Given the description of an element on the screen output the (x, y) to click on. 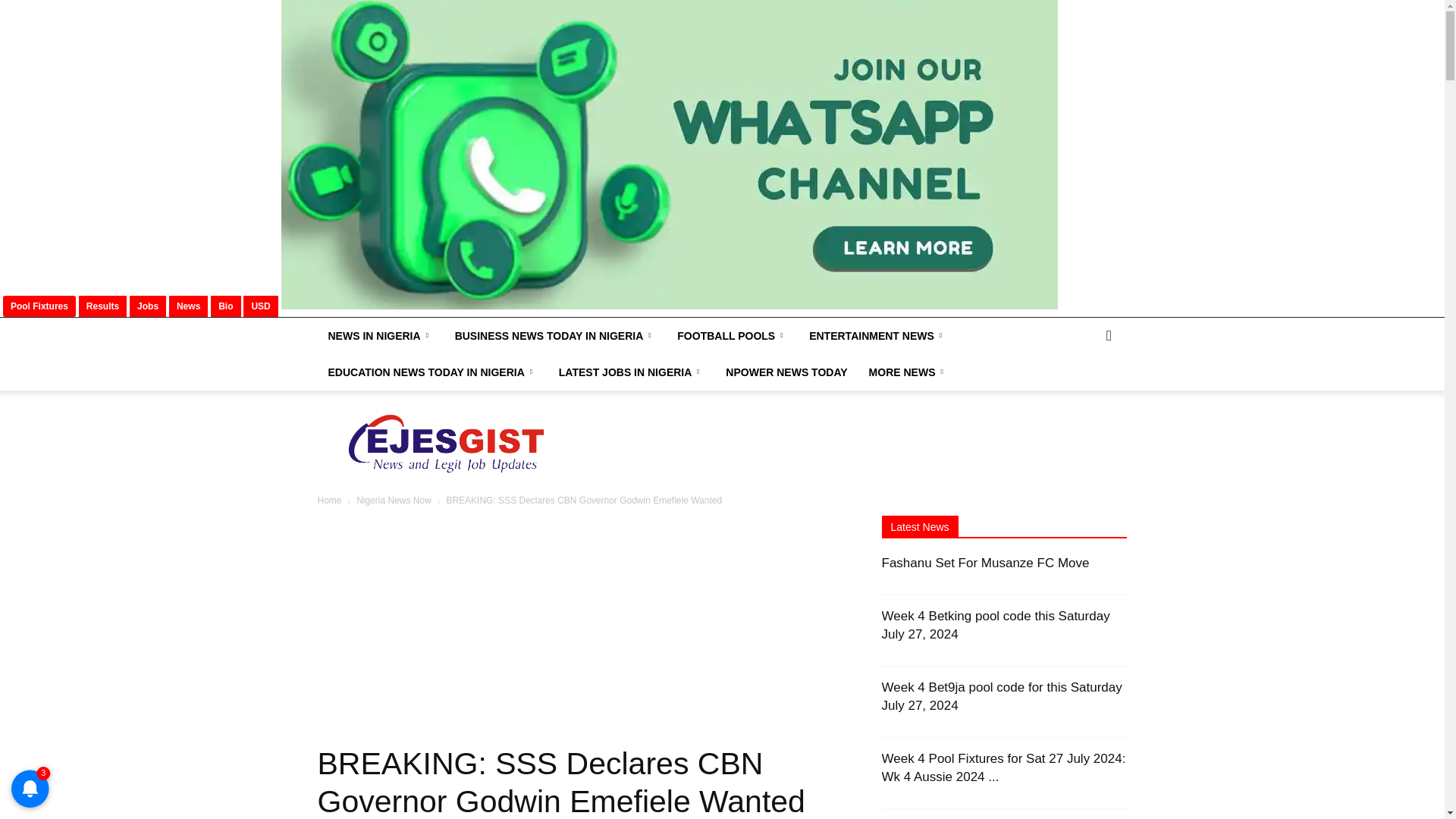
News (188, 306)
Pool Fixtures (39, 306)
Bio (225, 306)
Results (102, 306)
Jobs (147, 306)
USD (259, 306)
